Given the description of an element on the screen output the (x, y) to click on. 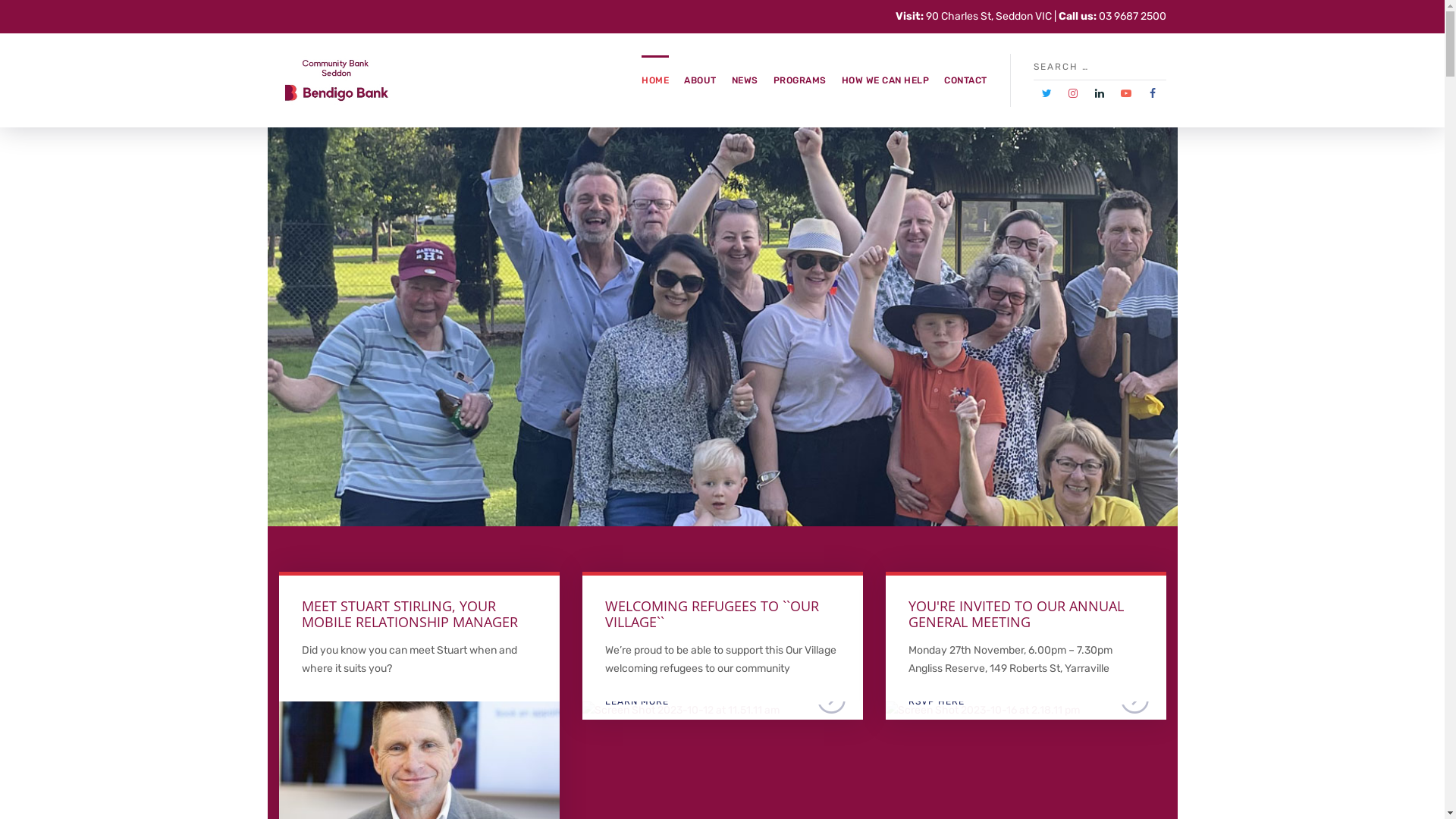
NEWS Element type: text (744, 80)
WELCOMING REFUGEES TO ``OUR VILLAGE`` Element type: text (712, 613)
LEARN MORE Element type: text (680, 709)
Search Element type: text (1158, 67)
Screen Shot 2023-10-12 at 11.51.11 am Element type: hover (680, 709)
PROGRAMS Element type: text (799, 80)
MEET STUART STIRLING, YOUR MOBILE RELATIONSHIP MANAGER Element type: text (409, 613)
Search Element type: text (7, 7)
Search Element type: text (1373, 79)
CONTACT Element type: text (965, 80)
YOU'RE INVITED TO OUR ANNUAL GENERAL MEETING Element type: text (1015, 613)
LEARN MORE Element type: text (419, 709)
HOME Element type: text (654, 80)
RSVP HERE Element type: text (982, 709)
HOW WE CAN HELP Element type: text (885, 80)
Screen Shot 2023-10-16 at 2.18.11 pm Element type: hover (982, 709)
ABOUT Element type: text (700, 80)
